Given the description of an element on the screen output the (x, y) to click on. 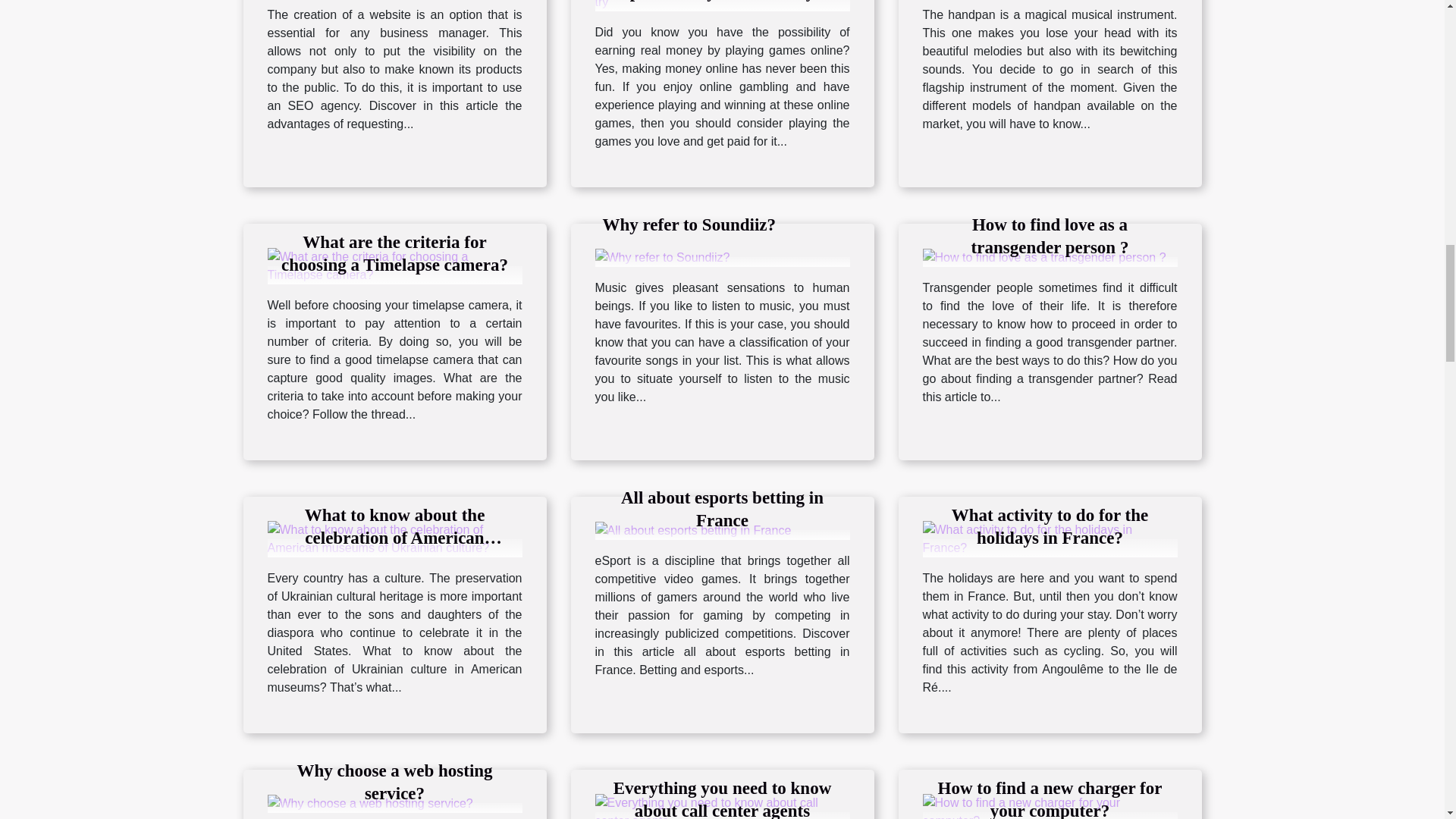
What are the criteria for choosing a Timelapse camera? (394, 253)
Why refer to Soundiiz? (689, 224)
How to find love as a transgender person ? (1050, 236)
What are the criteria for choosing a Timelapse camera? (393, 264)
